Given the description of an element on the screen output the (x, y) to click on. 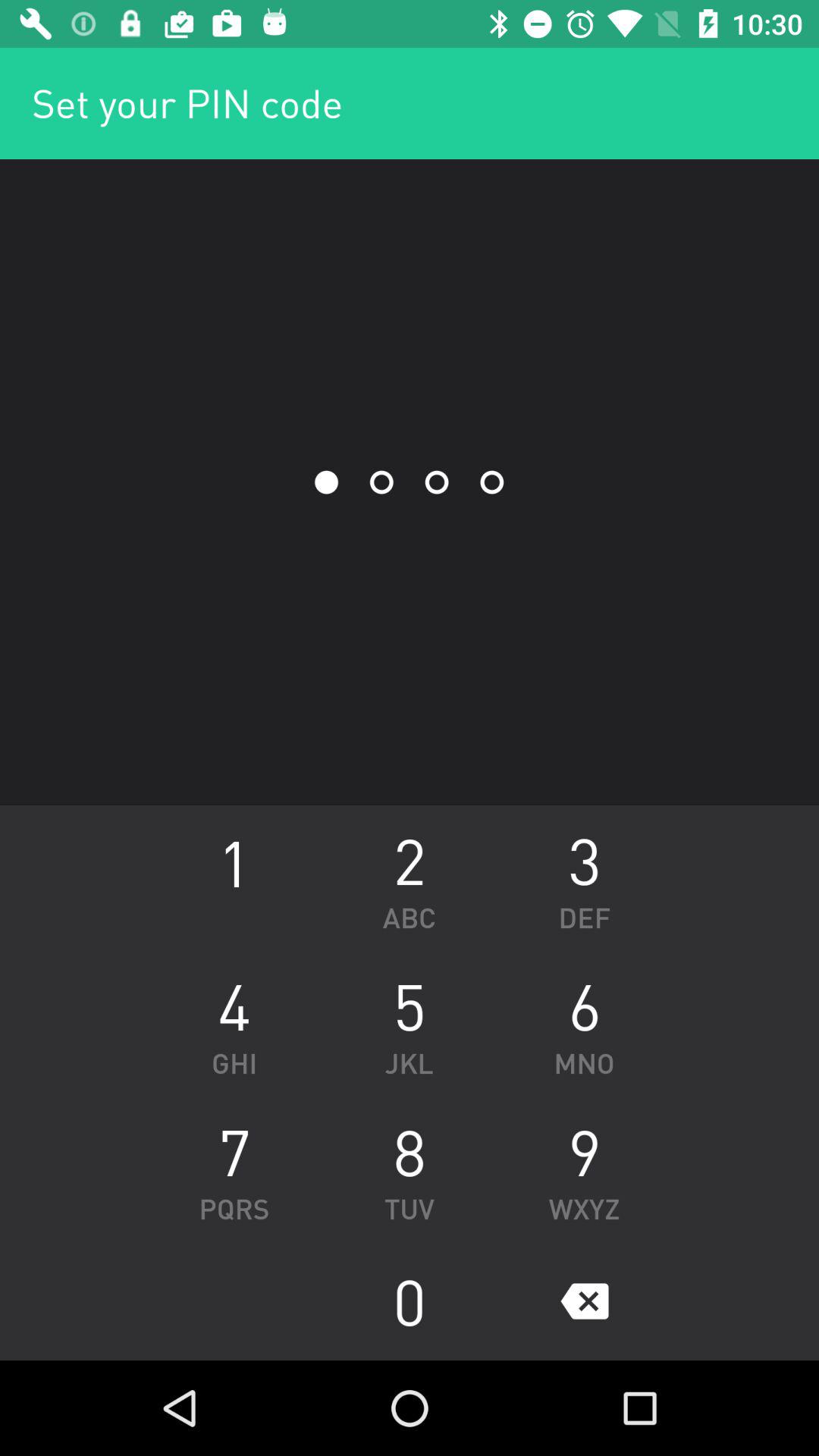
launch the icon to the right of the 0 icon (584, 1301)
